Given the description of an element on the screen output the (x, y) to click on. 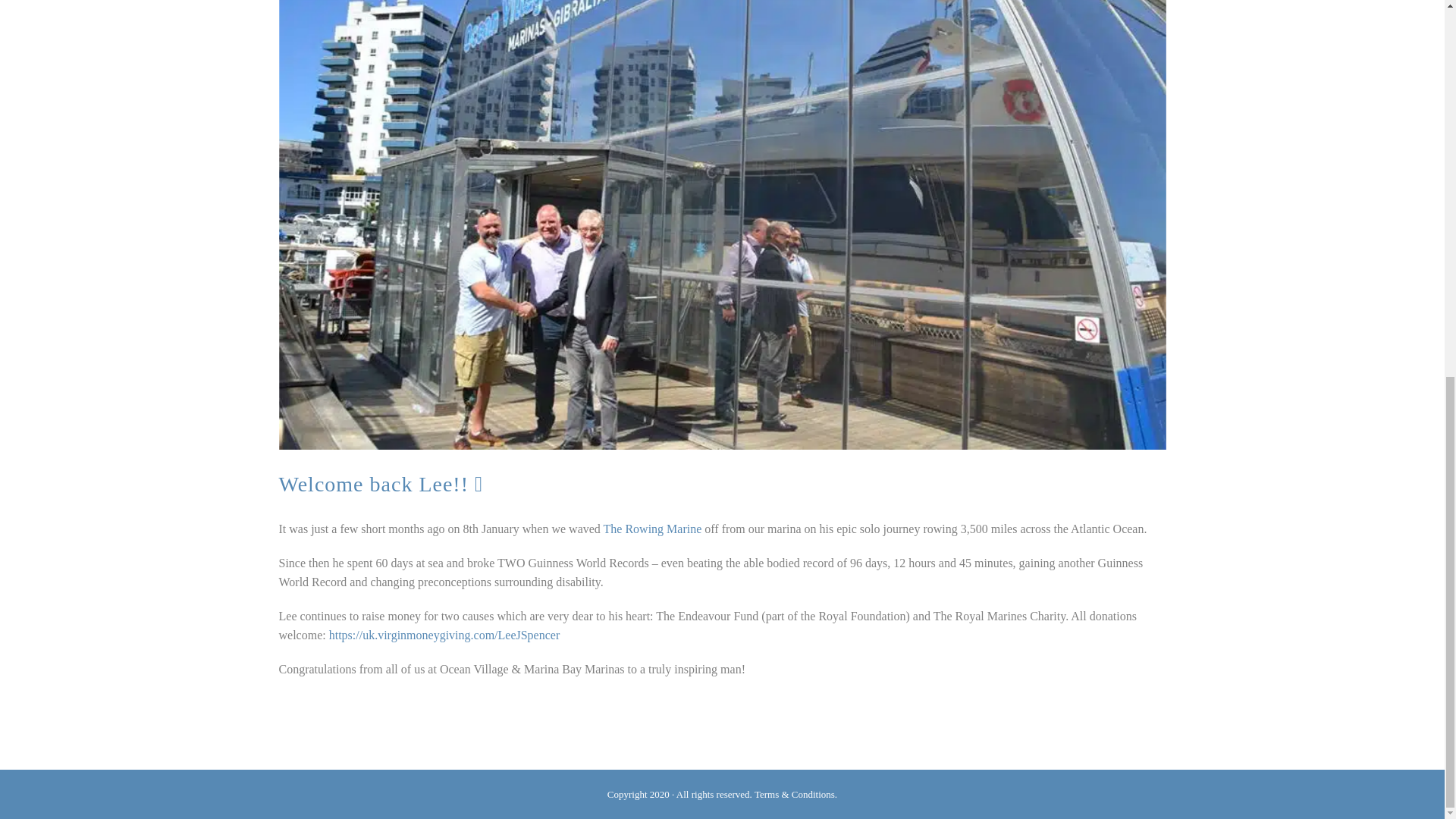
The Rowing Marine (652, 528)
